Given the description of an element on the screen output the (x, y) to click on. 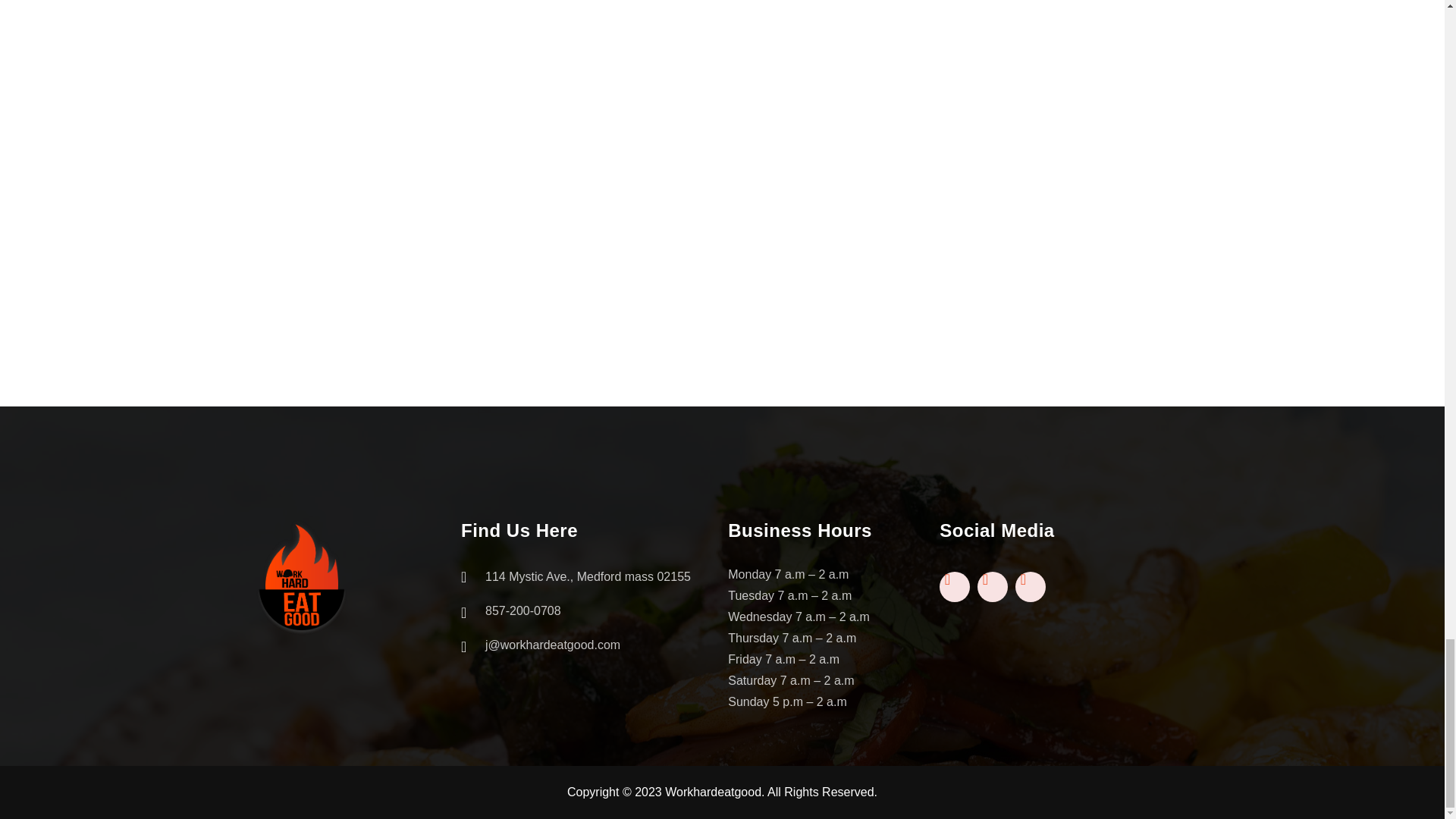
857-200-0708 (579, 610)
